Given the description of an element on the screen output the (x, y) to click on. 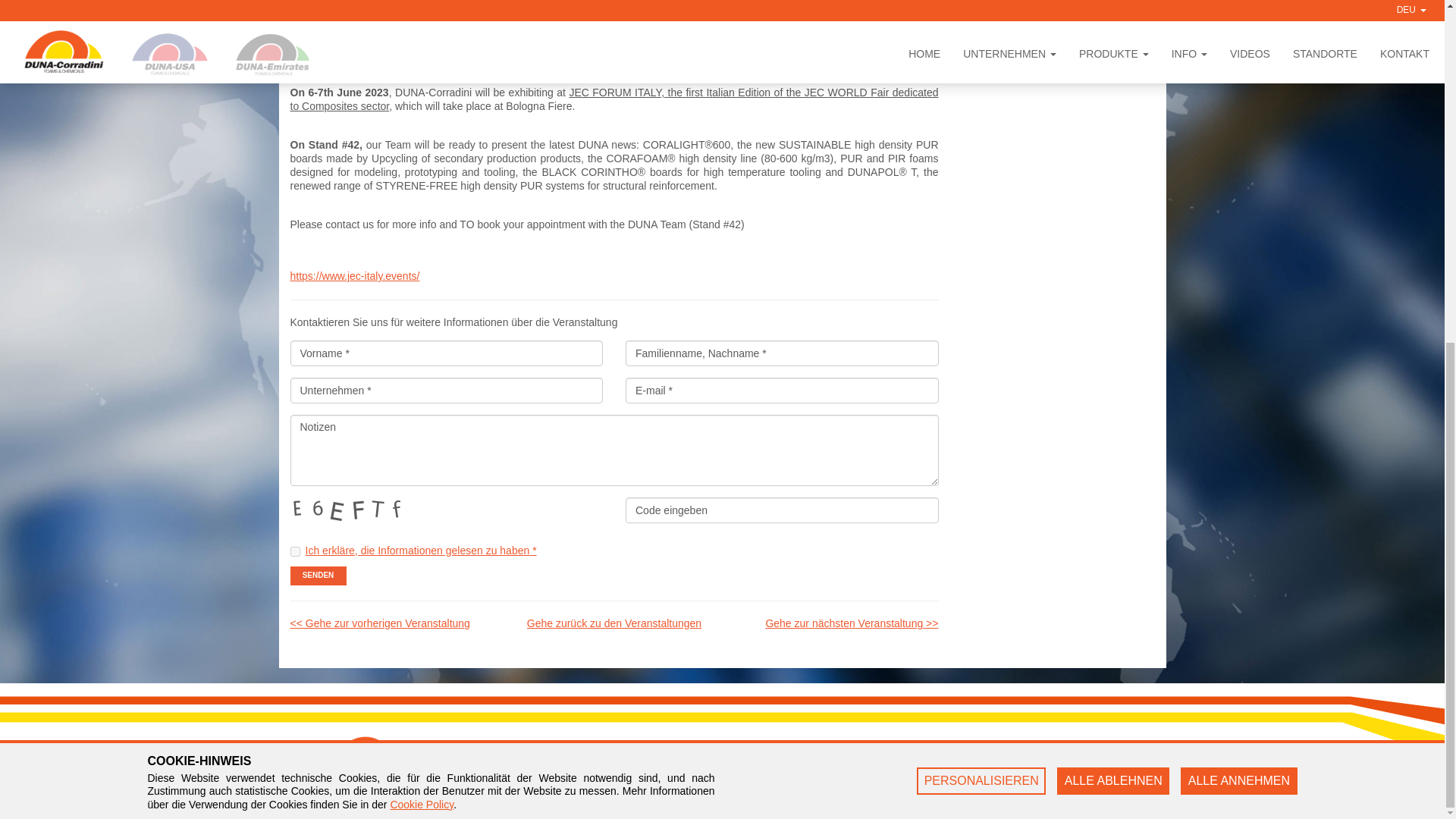
on (294, 551)
Senden (317, 575)
Senden (317, 575)
Newsletter (829, 765)
